Given the description of an element on the screen output the (x, y) to click on. 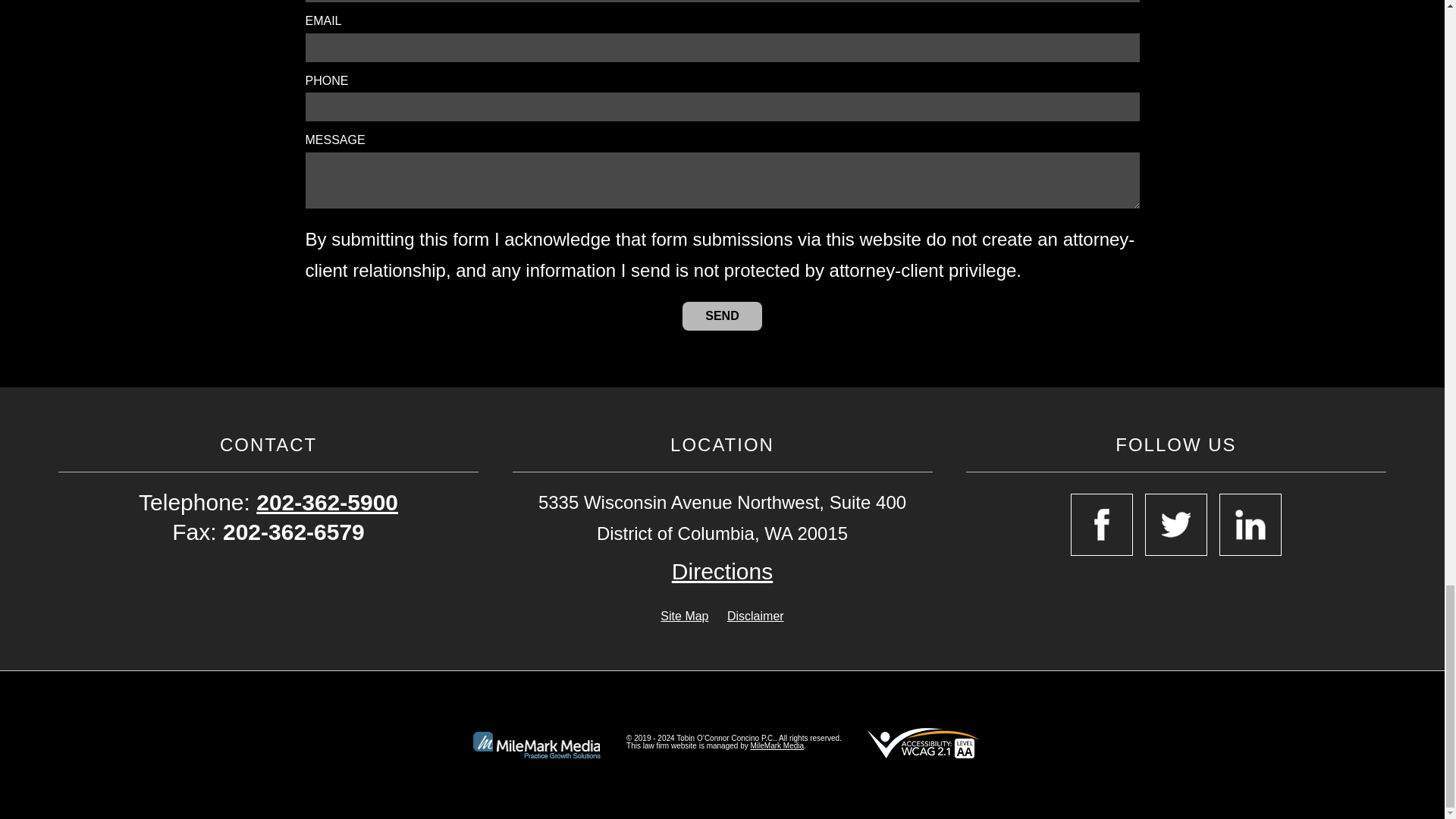
Open Twitter in a New Window (1175, 524)
Open Linkedin in a New Window (1250, 524)
Send (721, 316)
Open Google Map in a New Window (722, 571)
Open Facebook in a New Window (1101, 524)
